Given the description of an element on the screen output the (x, y) to click on. 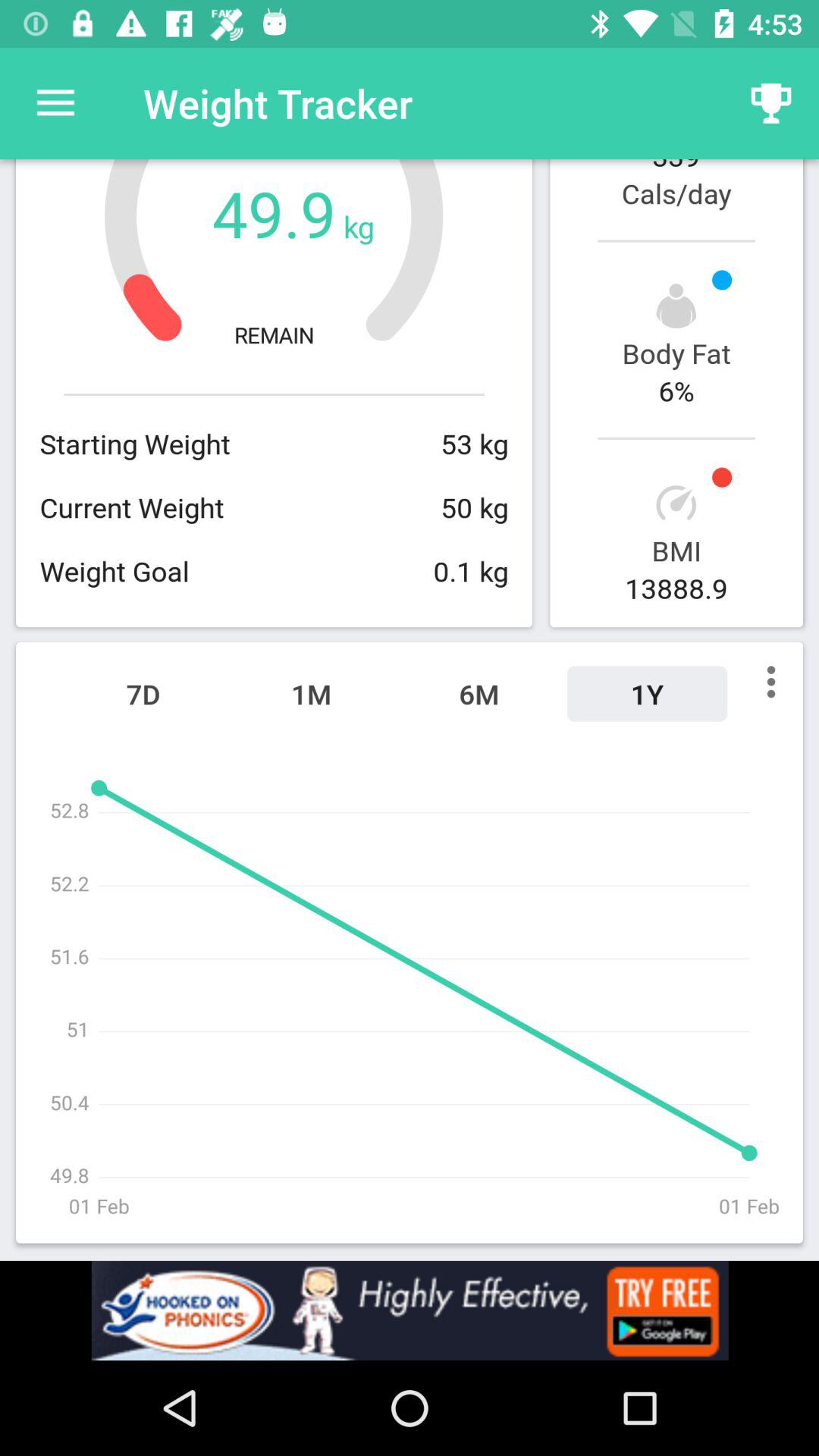
advertisement to install hooked on phonics app (409, 1310)
